Given the description of an element on the screen output the (x, y) to click on. 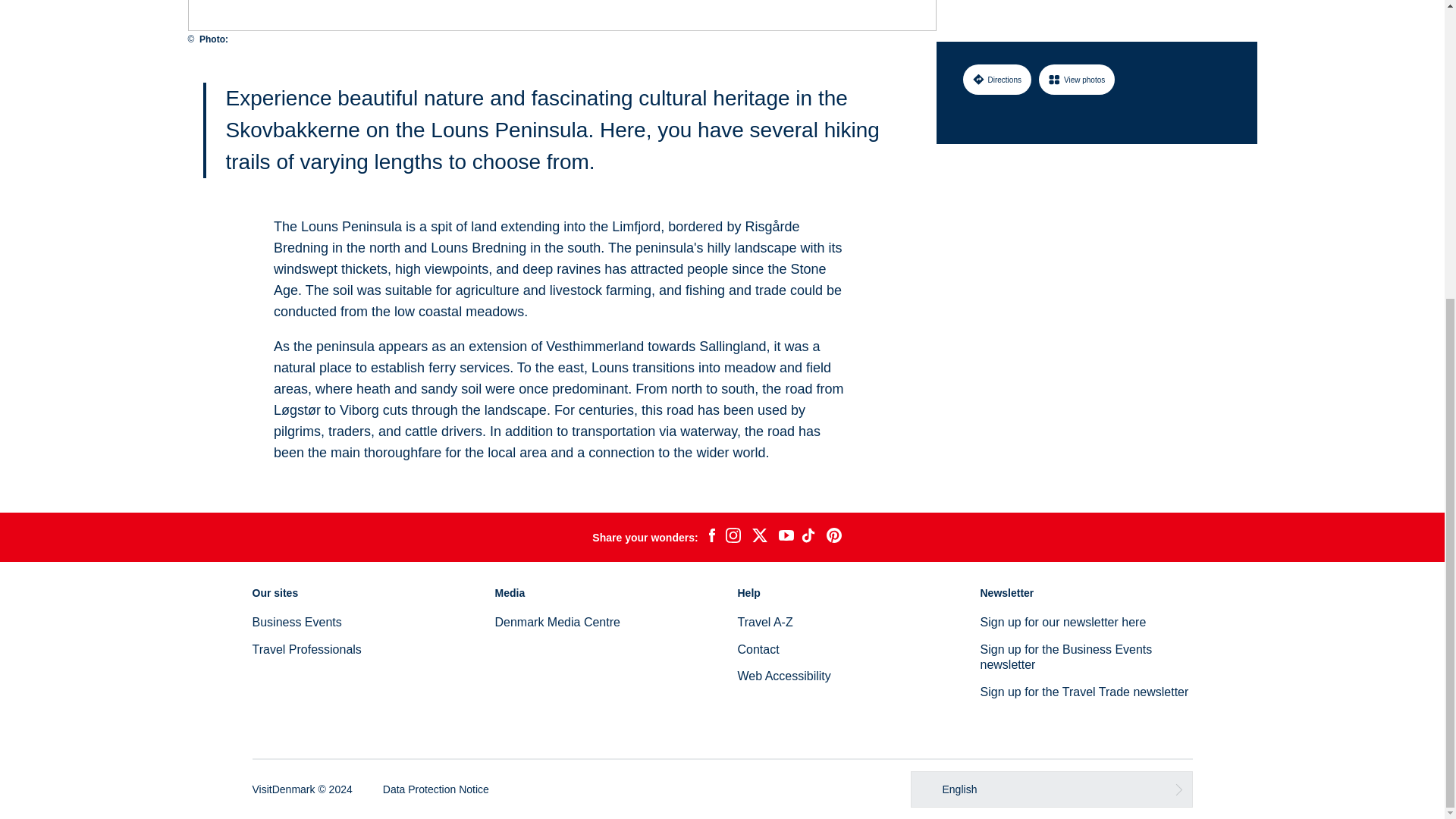
Data Protection Notice (435, 789)
Sign up for the Business Events newsletter (1065, 656)
Business Events (295, 621)
Sign up for our newsletter here (1062, 621)
Web Accessibility (782, 675)
tiktok (810, 537)
instagram (732, 537)
Denmark Media Centre (557, 621)
Travel Professionals (306, 649)
youtube (786, 537)
twitter (759, 537)
Sign up for our newsletter here (1062, 621)
Sign up for the Business Events newsletter (1065, 656)
Contact (757, 649)
Travel A-Z (764, 621)
